Given the description of an element on the screen output the (x, y) to click on. 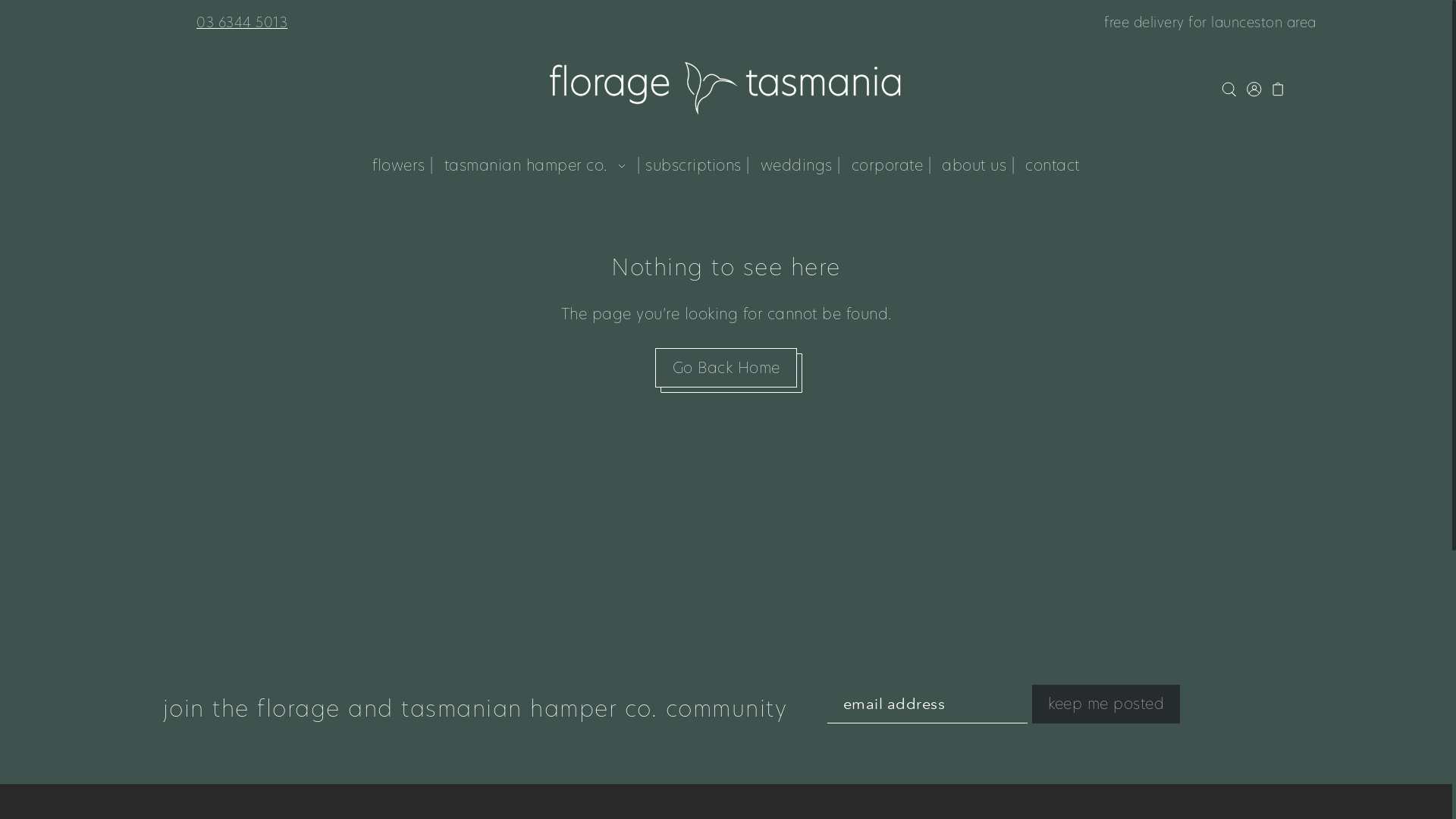
tasmanian hamper co. Element type: text (535, 165)
contact Element type: text (1051, 165)
| subscriptions | Element type: text (692, 165)
keep me posted Element type: text (1106, 704)
corporate | Element type: text (891, 165)
about us | Element type: text (977, 165)
weddings | Element type: text (800, 165)
Go Back Home Element type: text (726, 367)
flowers | Element type: text (403, 165)
